Given the description of an element on the screen output the (x, y) to click on. 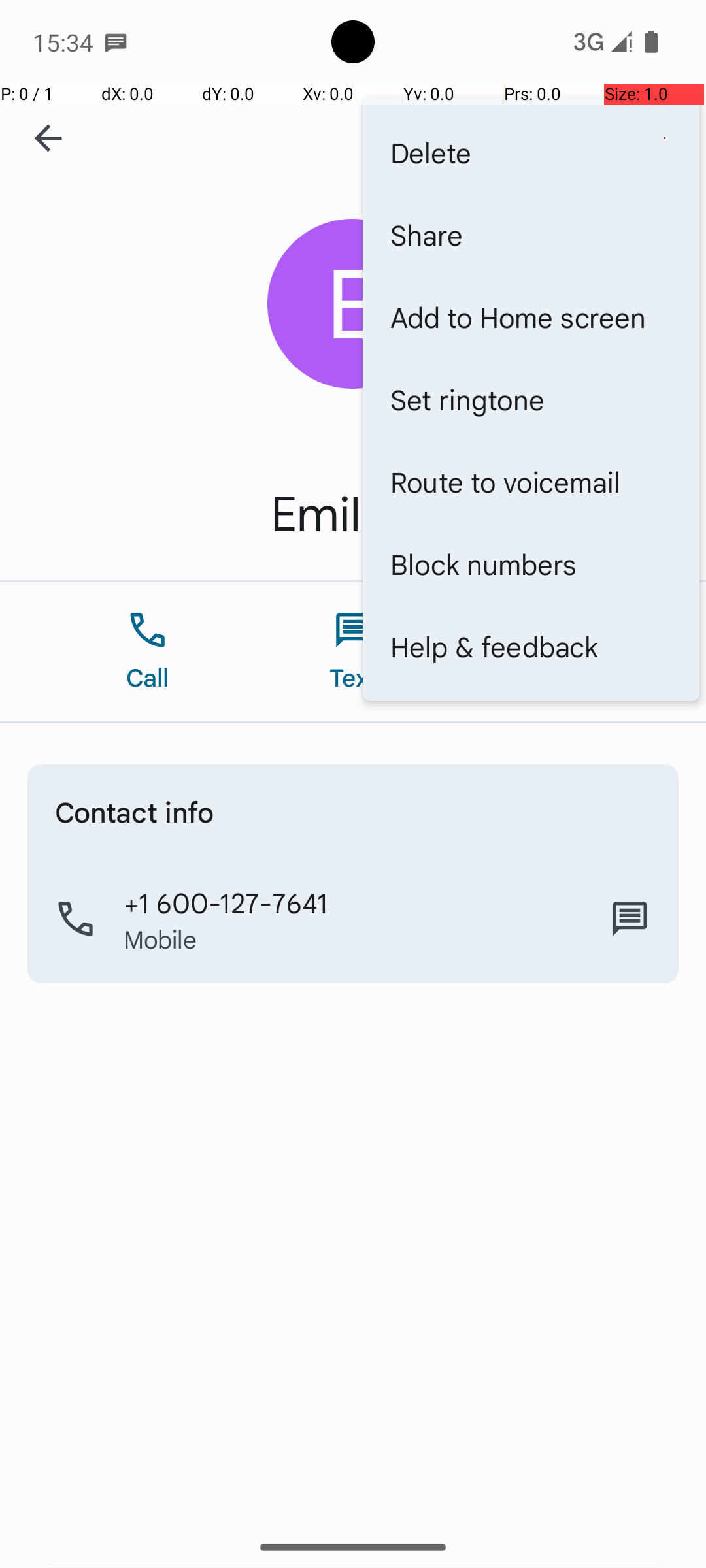
Add to Home screen Element type: android.widget.TextView (531, 316)
Set ringtone Element type: android.widget.TextView (531, 398)
Route to voicemail Element type: android.widget.TextView (531, 481)
Block numbers Element type: android.widget.TextView (531, 563)
SMS Messenger notification: Martin Chen Element type: android.widget.ImageView (115, 41)
